Given the description of an element on the screen output the (x, y) to click on. 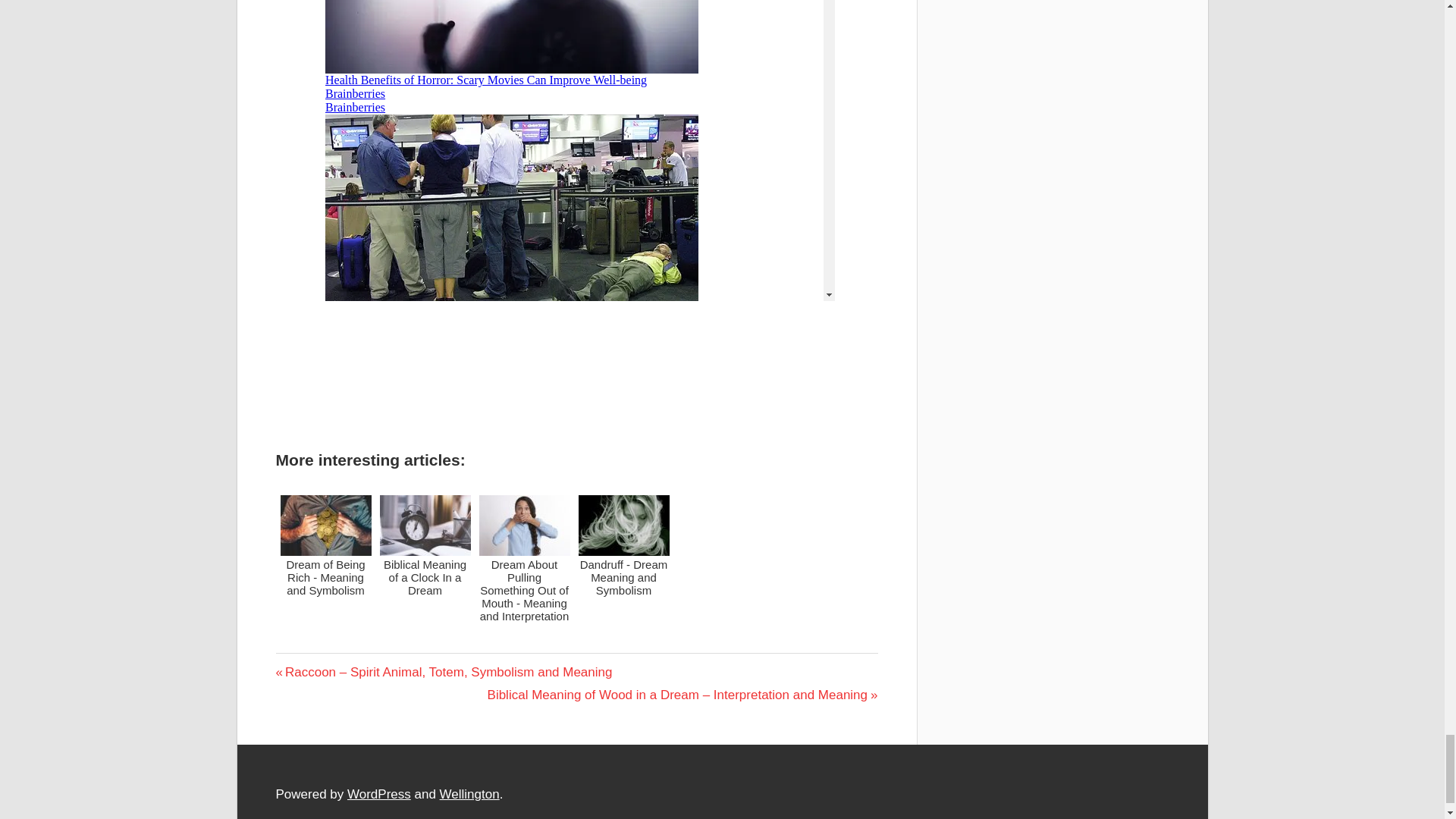
Wellington WordPress Theme (469, 794)
DREAM MEANING (309, 675)
WordPress (378, 794)
